Given the description of an element on the screen output the (x, y) to click on. 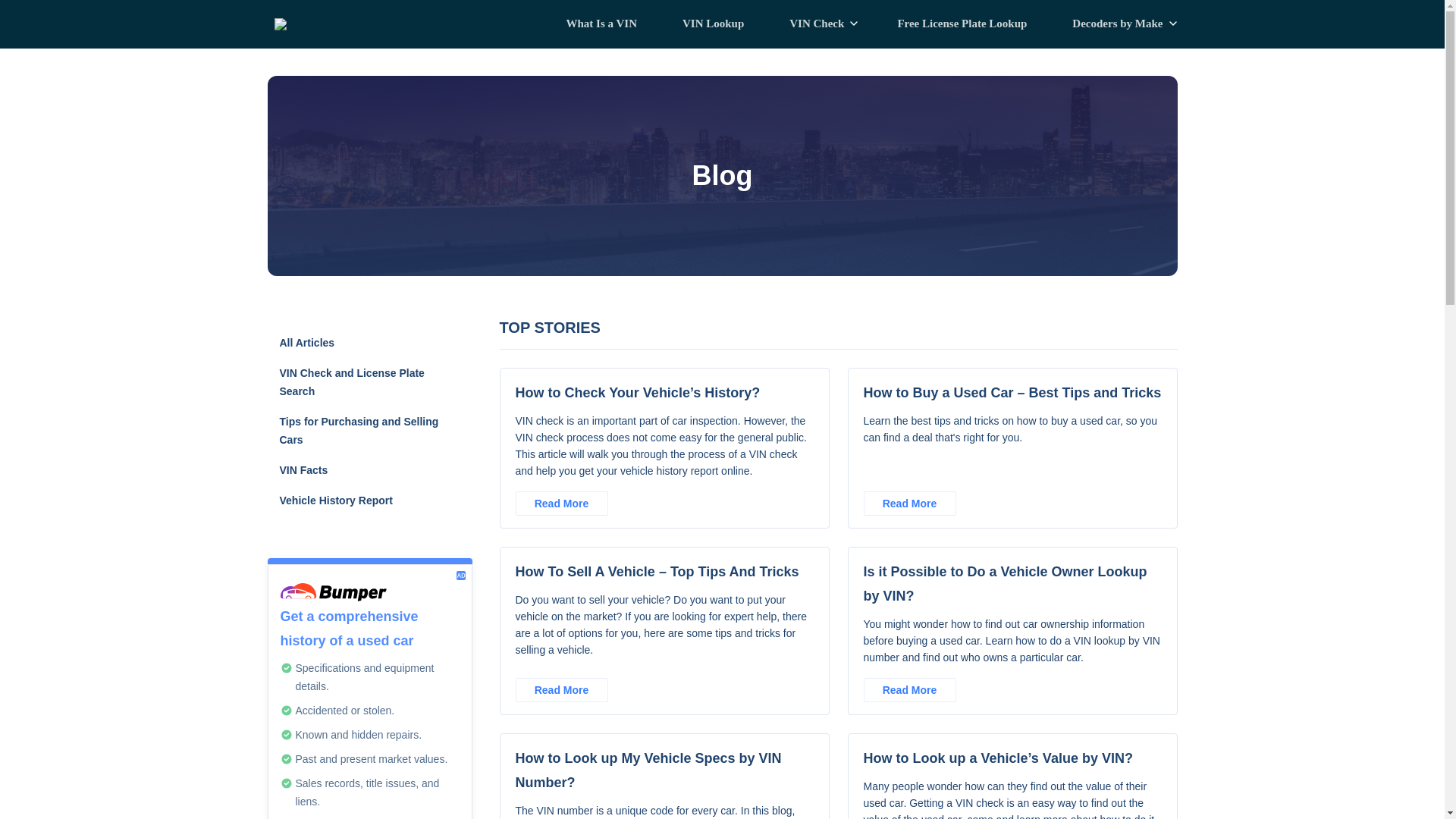
Free License Plate Lookup (961, 24)
VINPIT (301, 24)
VIN Lookup (713, 24)
What Is a VIN (601, 24)
